Given the description of an element on the screen output the (x, y) to click on. 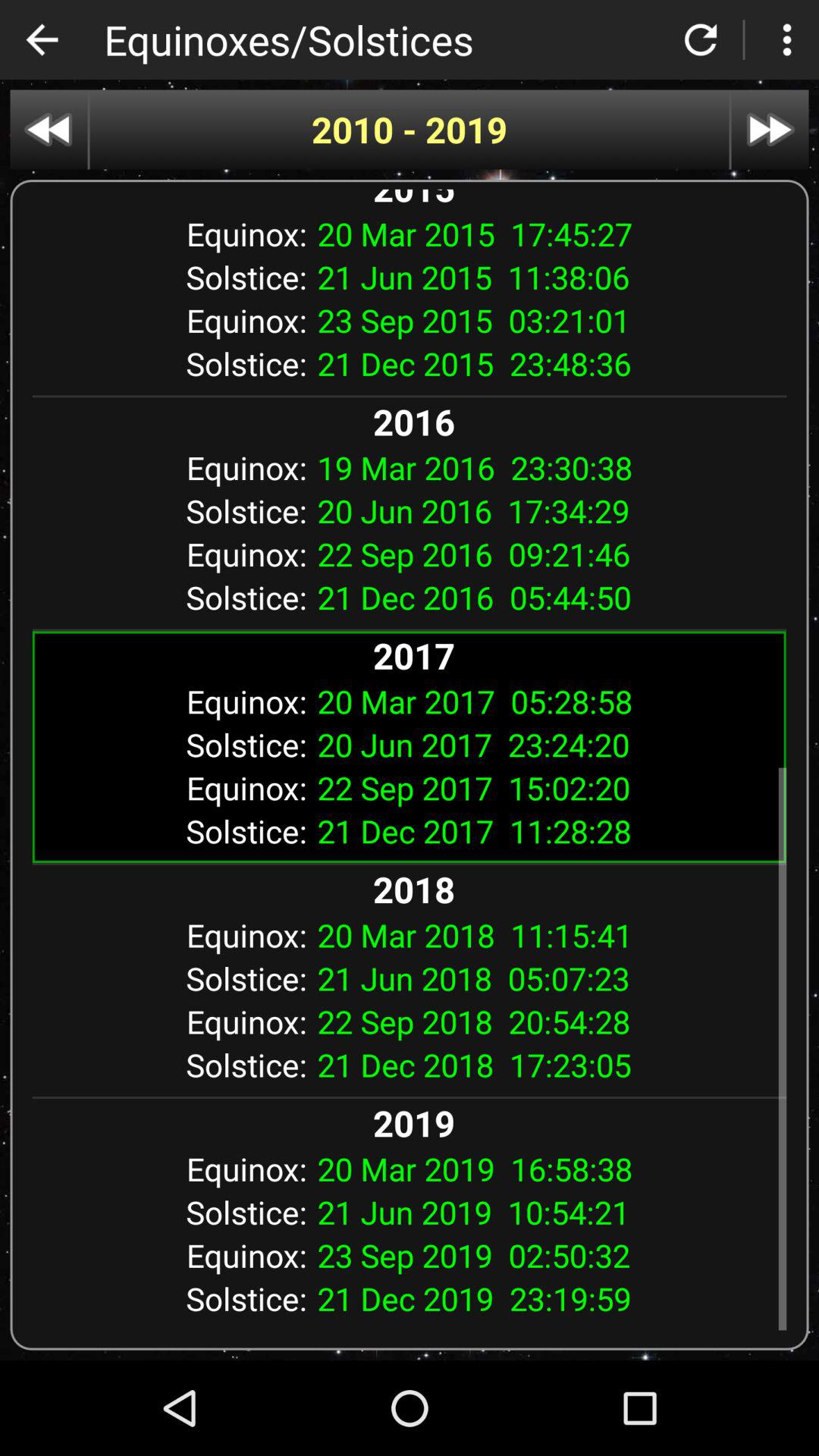
scroll until the 19 mar 2016 app (546, 467)
